Given the description of an element on the screen output the (x, y) to click on. 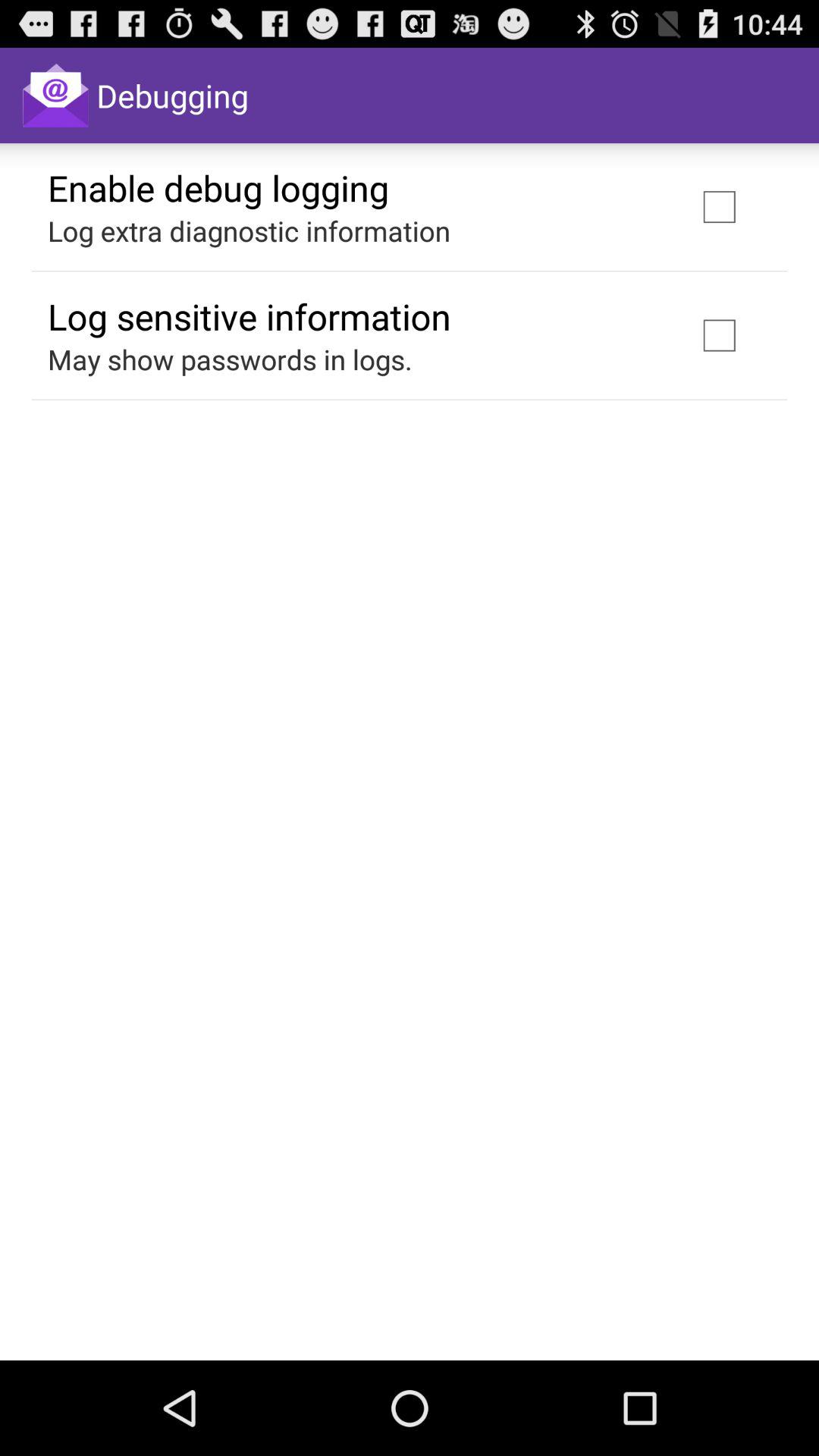
click enable debug logging (218, 187)
